Given the description of an element on the screen output the (x, y) to click on. 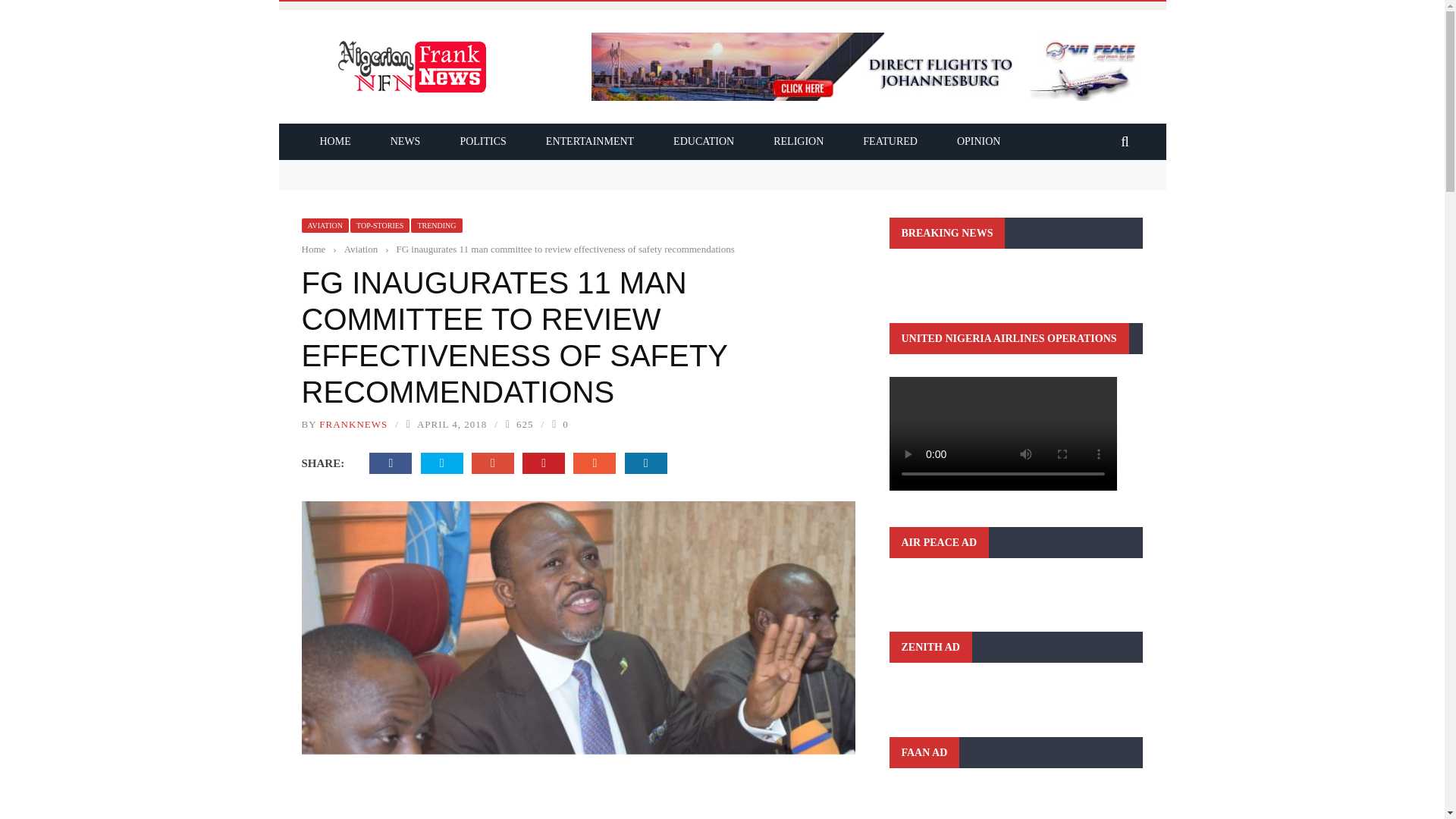
FRANKNEWS (352, 423)
TRENDING (435, 225)
ENTERTAINMENT (589, 141)
EDUCATION (703, 141)
AVIATION (325, 225)
HOME (335, 141)
RELIGION (798, 141)
Aviation (360, 248)
FEATURED (890, 141)
TOP-STORIES (379, 225)
